Given the description of an element on the screen output the (x, y) to click on. 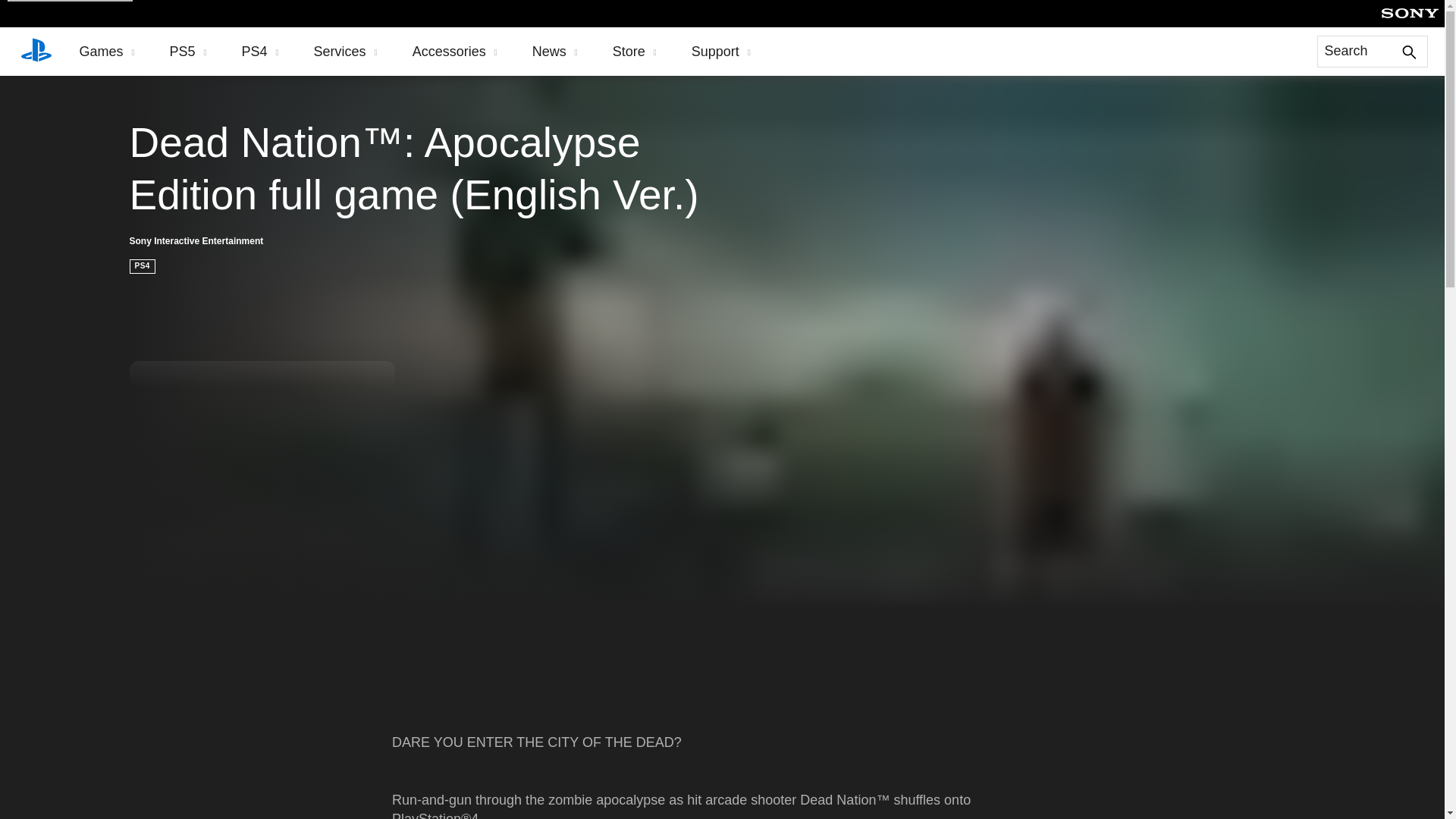
Services (345, 51)
Skip to main content (69, 0)
Accessories (454, 51)
Games (106, 51)
PS5 (188, 51)
PS4 (260, 51)
